Given the description of an element on the screen output the (x, y) to click on. 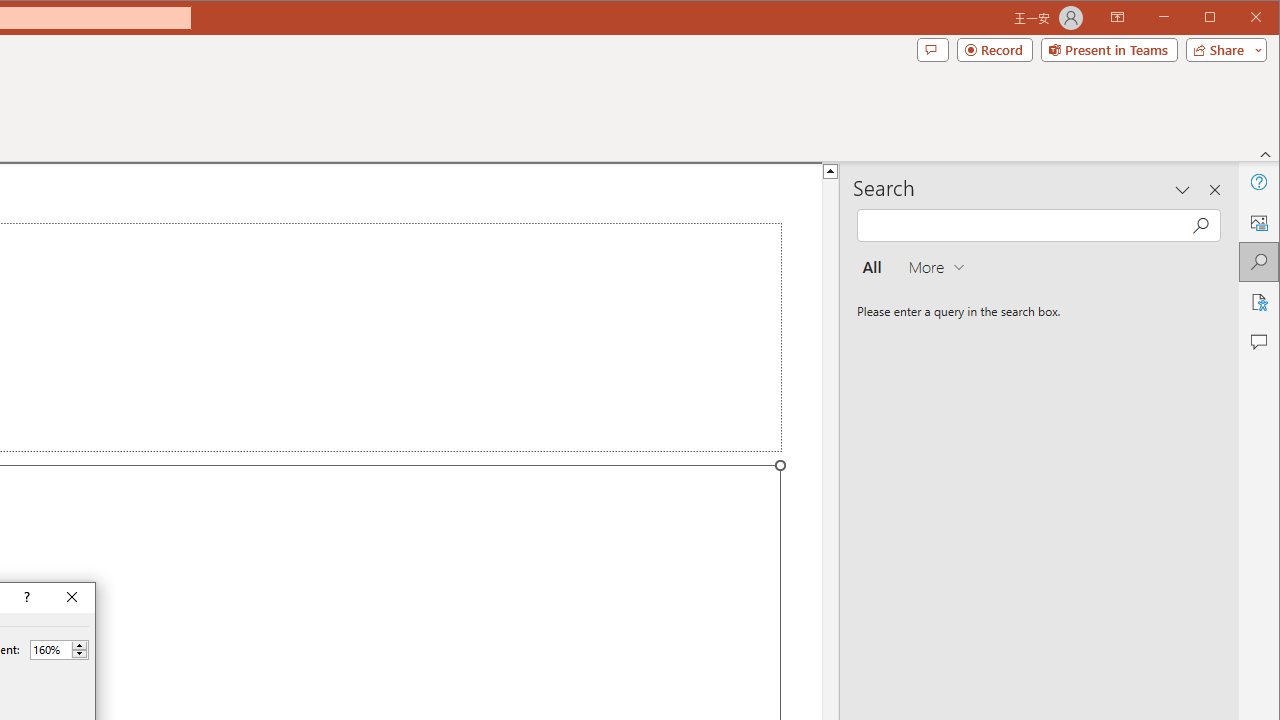
Context help (25, 597)
Percent (59, 650)
More (79, 645)
